Given the description of an element on the screen output the (x, y) to click on. 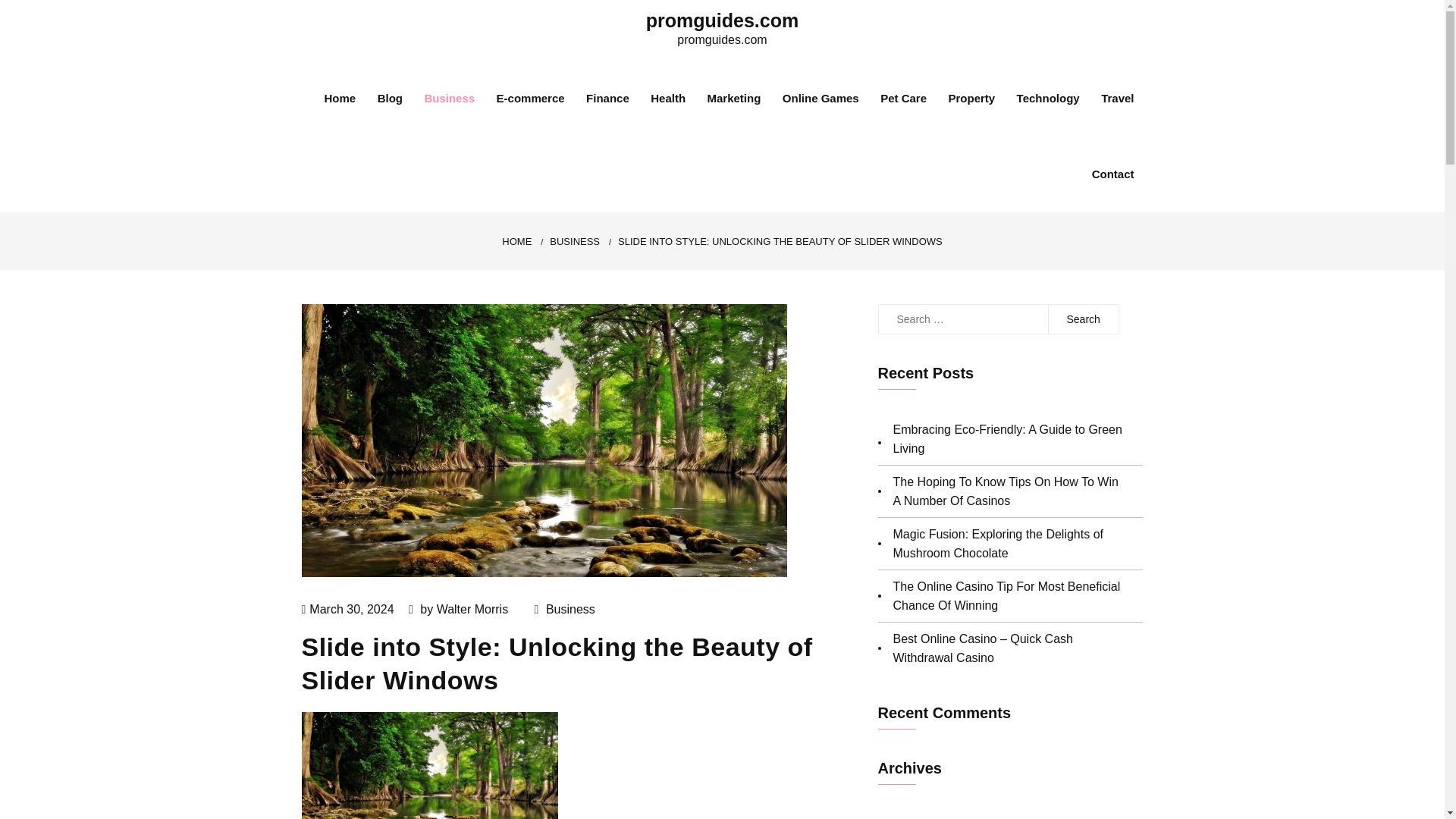
Business (570, 608)
Property (970, 98)
Pet Care (903, 98)
E-commerce (530, 98)
SLIDE INTO STYLE: UNLOCKING THE BEAUTY OF SLIDER WINDOWS (779, 241)
BUSINESS (574, 241)
Blog (390, 98)
Walter Morris (472, 608)
Embracing Eco-Friendly: A Guide to Green Living (1007, 438)
Home (339, 98)
Search (1083, 318)
The Online Casino Tip For Most Beneficial Chance Of Winning (1007, 595)
HOME (516, 241)
Contact (1113, 174)
Health (667, 98)
